Given the description of an element on the screen output the (x, y) to click on. 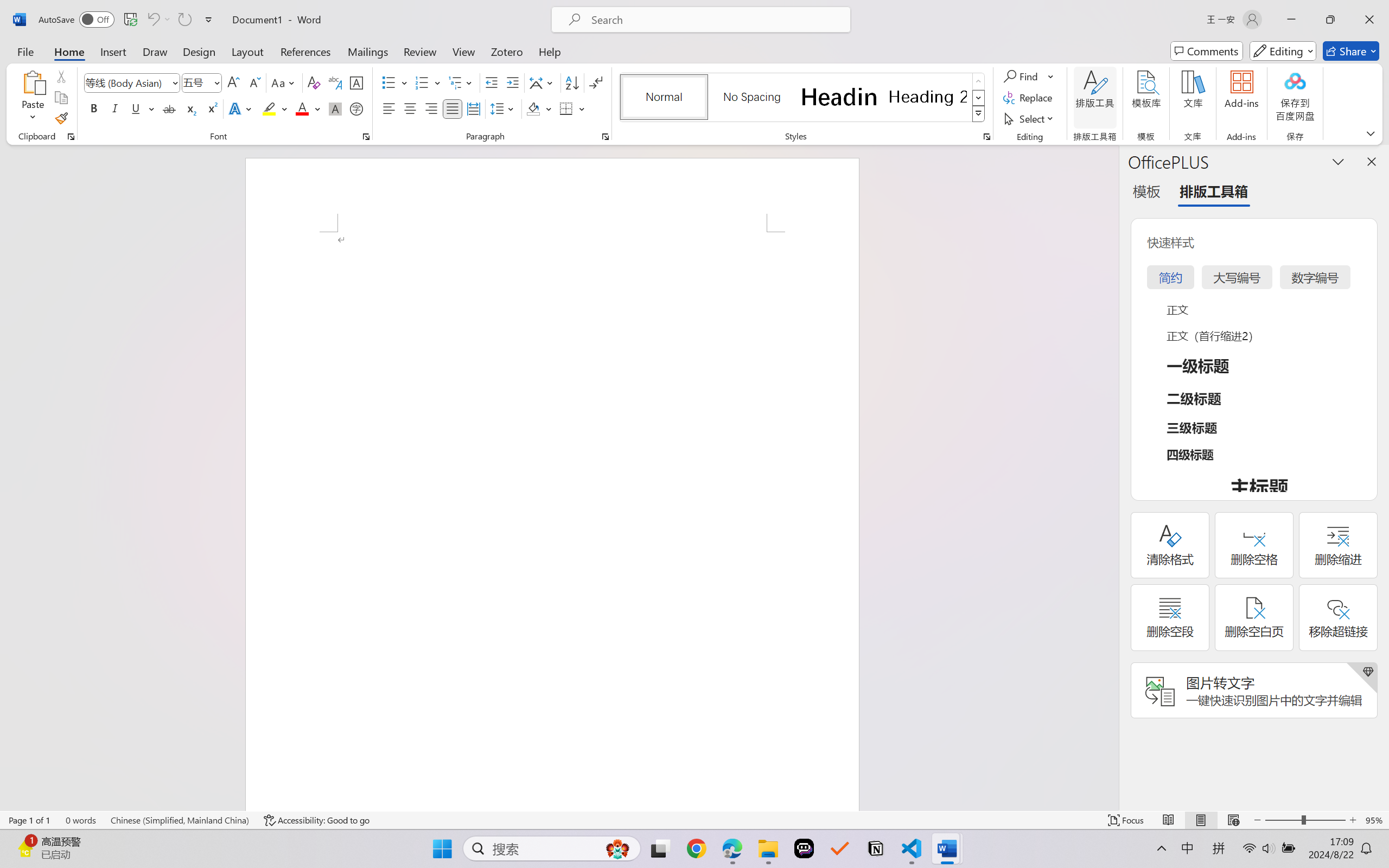
Class: NetUIScrollBar (1111, 477)
